Given the description of an element on the screen output the (x, y) to click on. 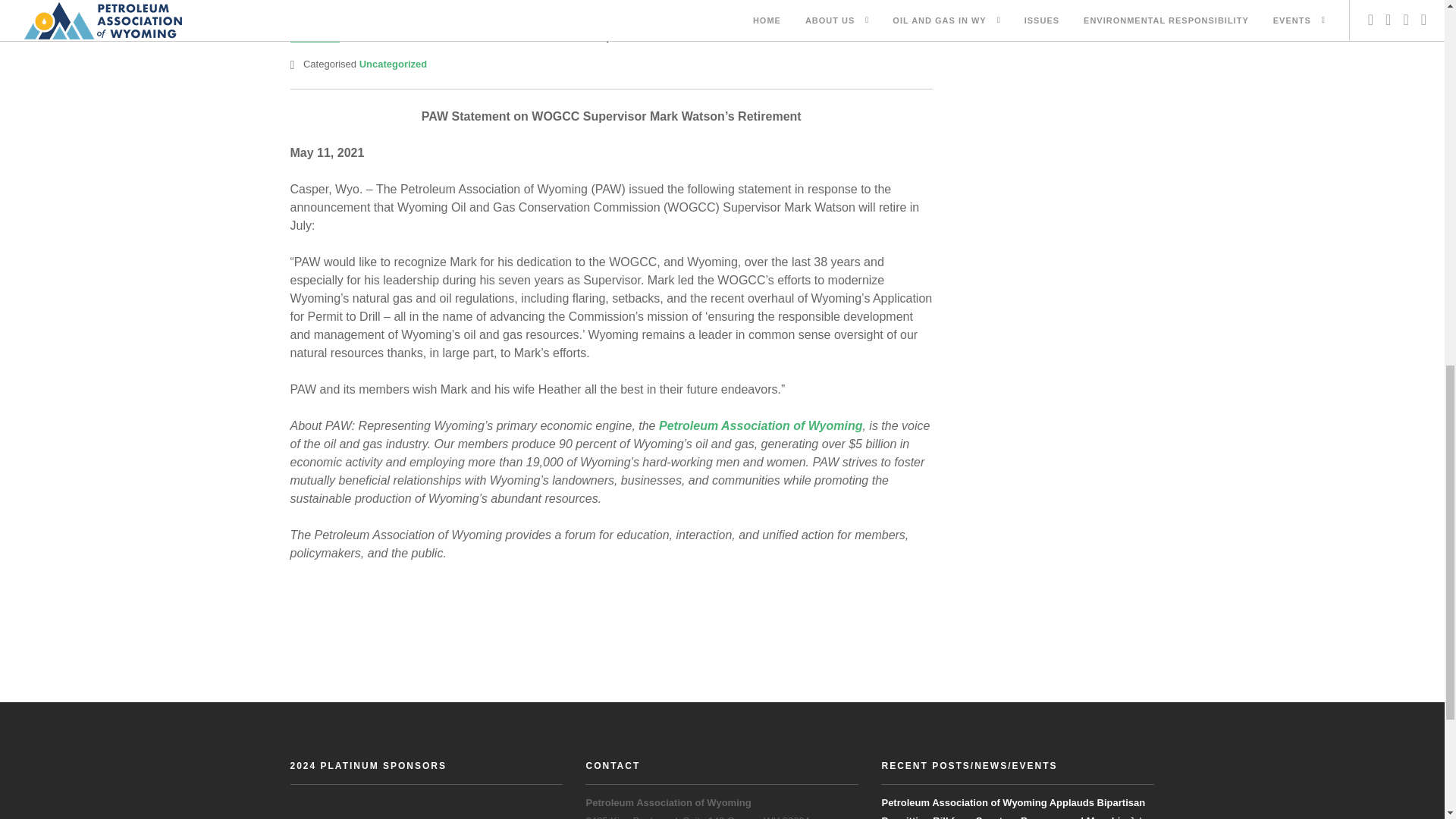
Uncategorized (393, 63)
Petroleum Association of Wyoming (760, 425)
